Given the description of an element on the screen output the (x, y) to click on. 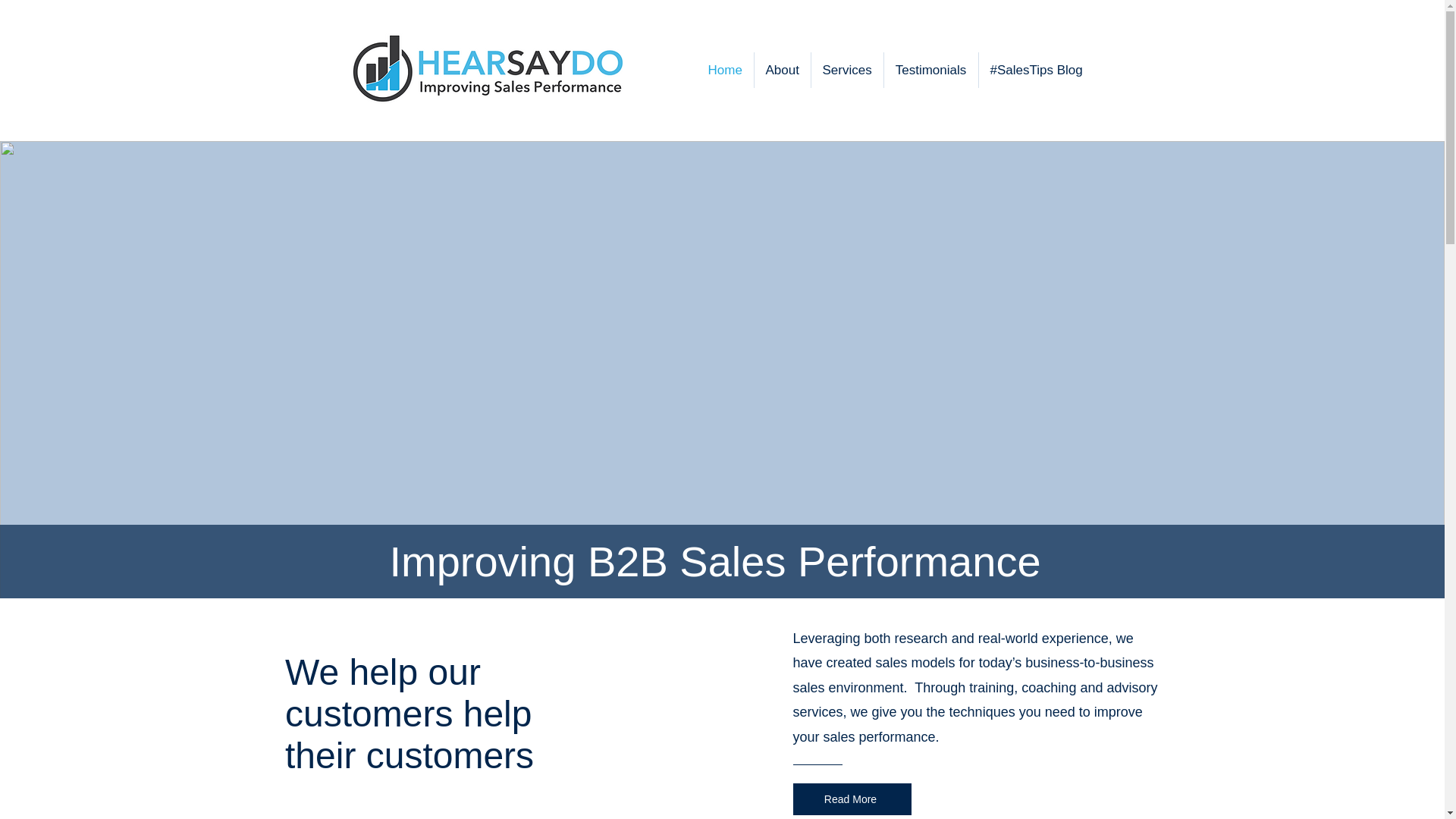
Home (723, 69)
Read More (852, 798)
Services (846, 69)
Testimonials (930, 69)
About (781, 69)
